Given the description of an element on the screen output the (x, y) to click on. 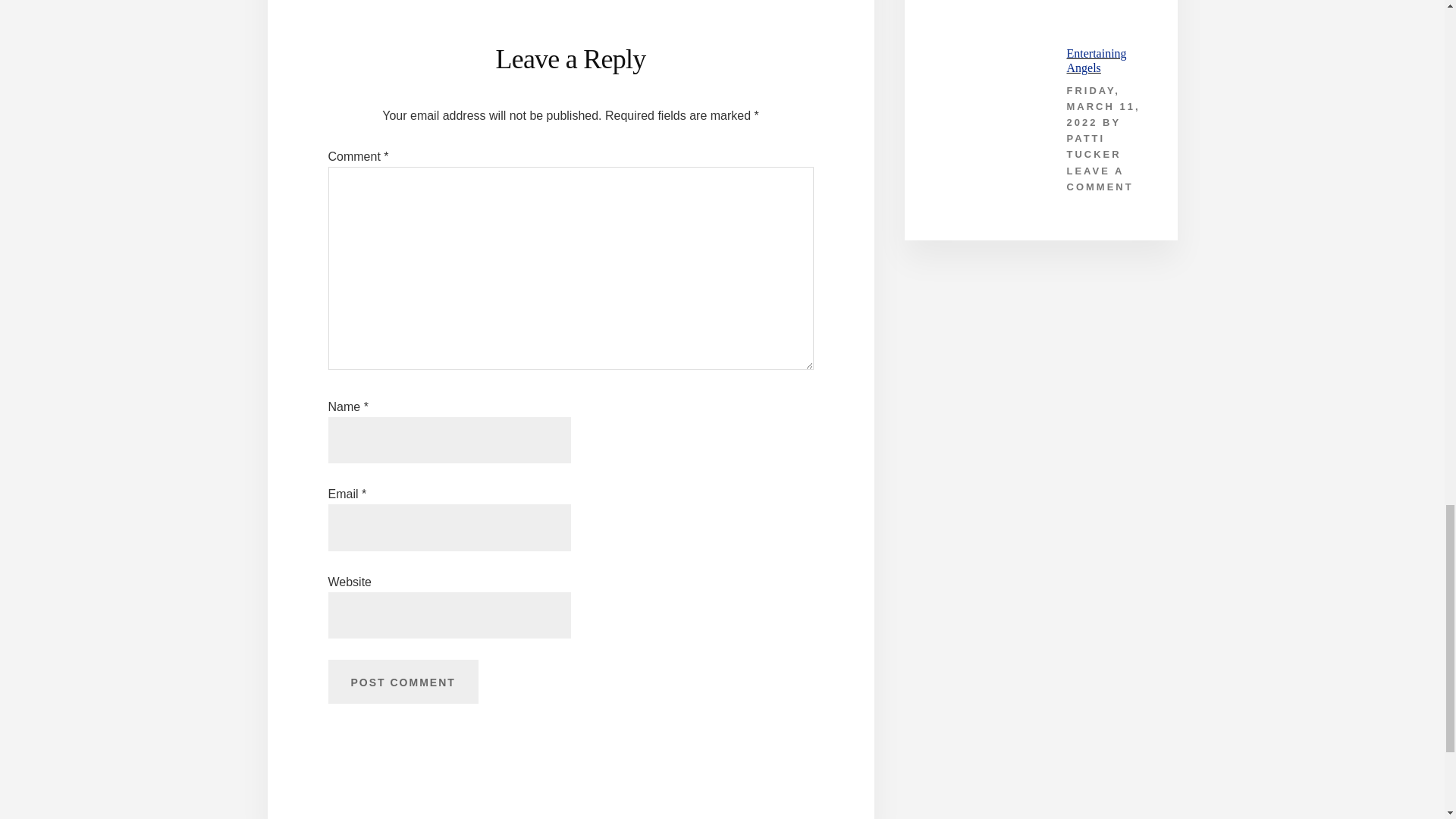
Post Comment (402, 681)
Entertaining Angels (1095, 60)
Post Comment (402, 681)
PATTI TUCKER (1093, 145)
